Given the description of an element on the screen output the (x, y) to click on. 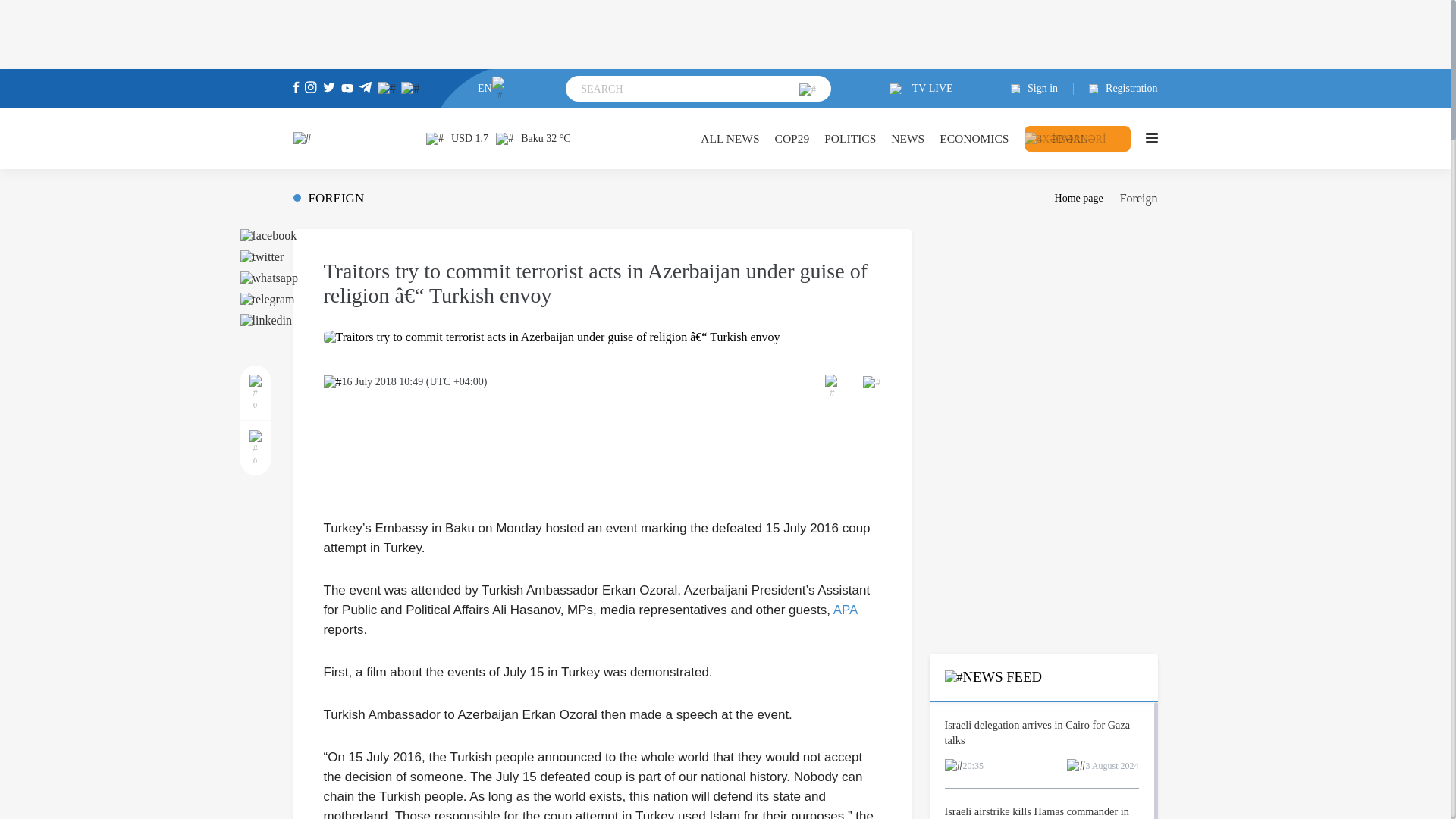
POLITICS (850, 138)
Registration (1115, 88)
Sign in (1042, 88)
ALL NEWS (729, 138)
NEWS (907, 138)
COP29 (791, 138)
ECONOMICS (974, 138)
USD 1.7 (456, 138)
TV LIVE (921, 88)
